Given the description of an element on the screen output the (x, y) to click on. 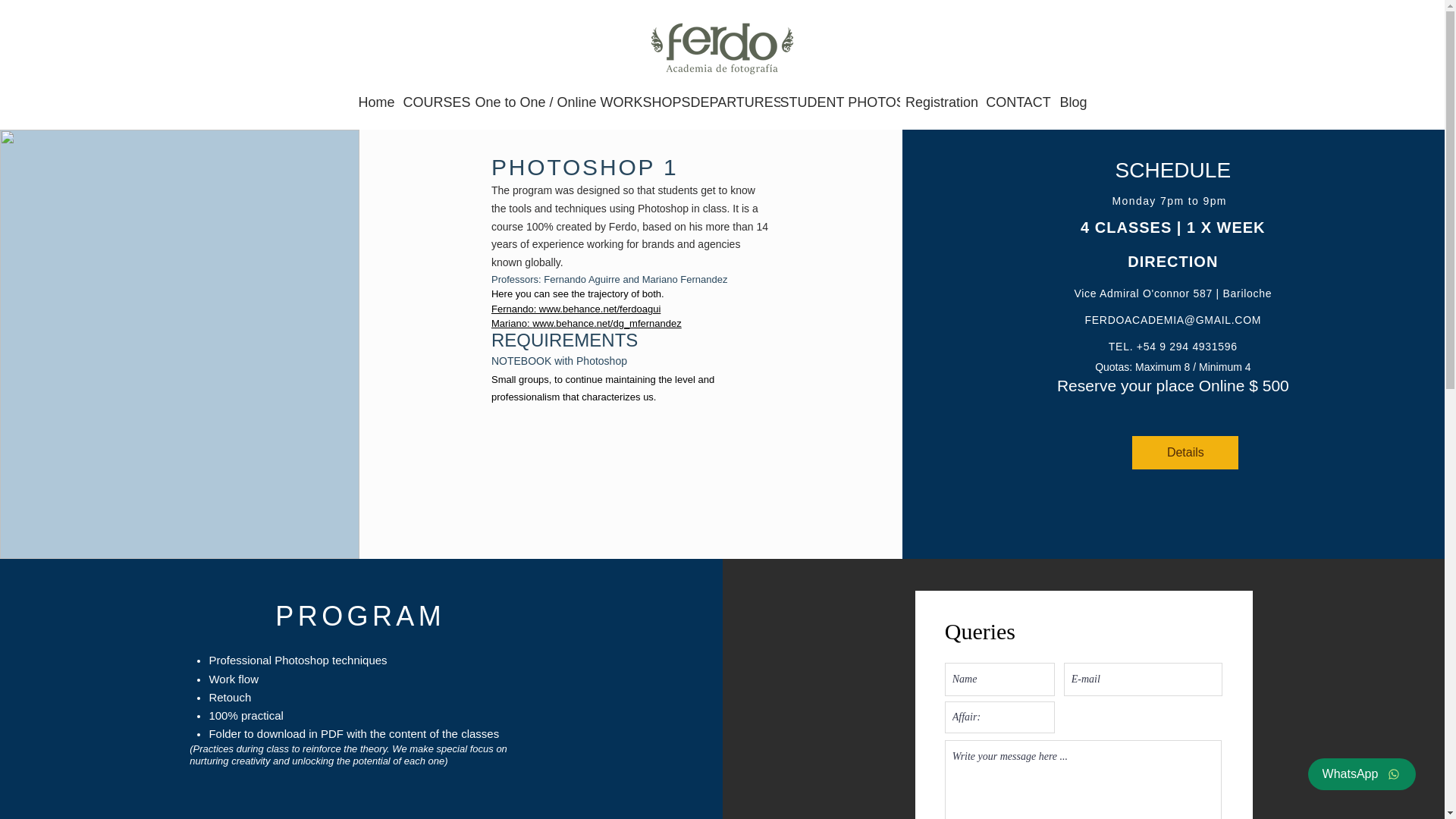
Home (375, 102)
DEPARTURES (734, 102)
Registration (941, 102)
STUDENT PHOTOS (838, 102)
Blog (1072, 102)
WhatsApp (1361, 774)
CONTACT (1018, 102)
Details (1185, 452)
